Given the description of an element on the screen output the (x, y) to click on. 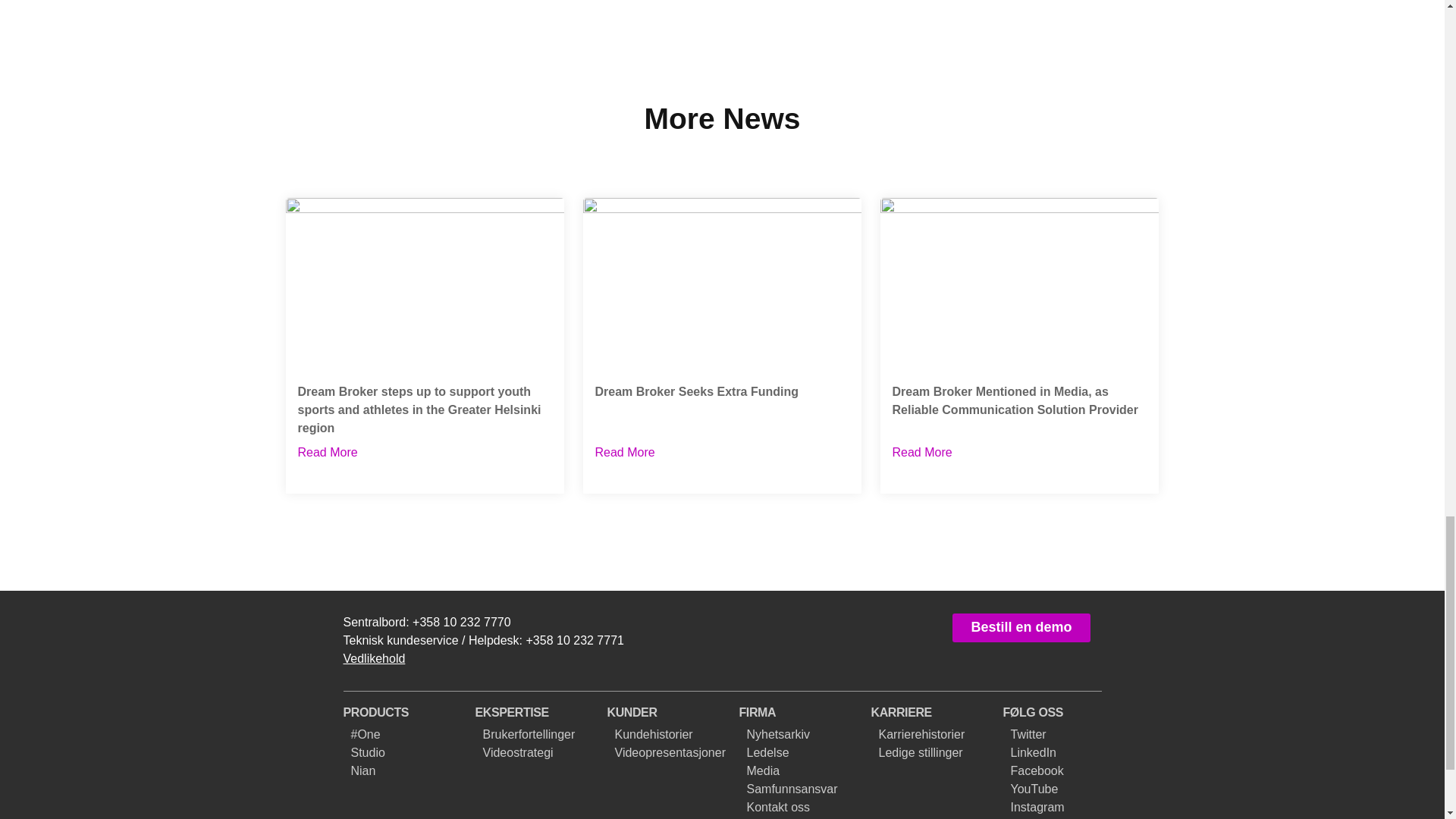
Read More (721, 346)
Read More (326, 451)
Read More (623, 451)
Vedlikehold (921, 451)
PRODUCTS (373, 658)
Bestill en demo (375, 712)
